Given the description of an element on the screen output the (x, y) to click on. 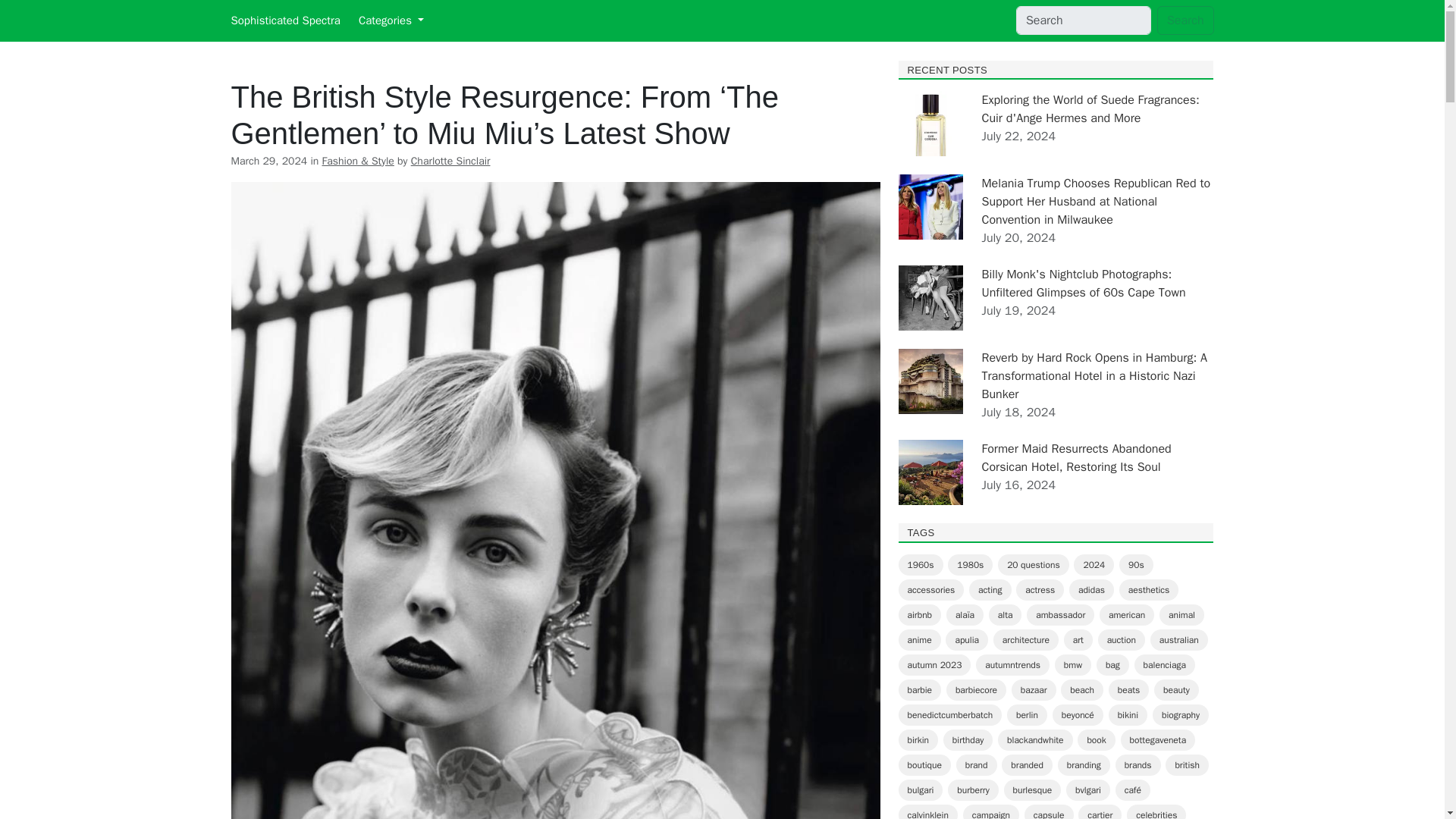
Charlotte Sinclair (450, 160)
Categories (390, 20)
Search (1185, 20)
Sophisticated Spectra (284, 20)
1960s (920, 564)
